Given the description of an element on the screen output the (x, y) to click on. 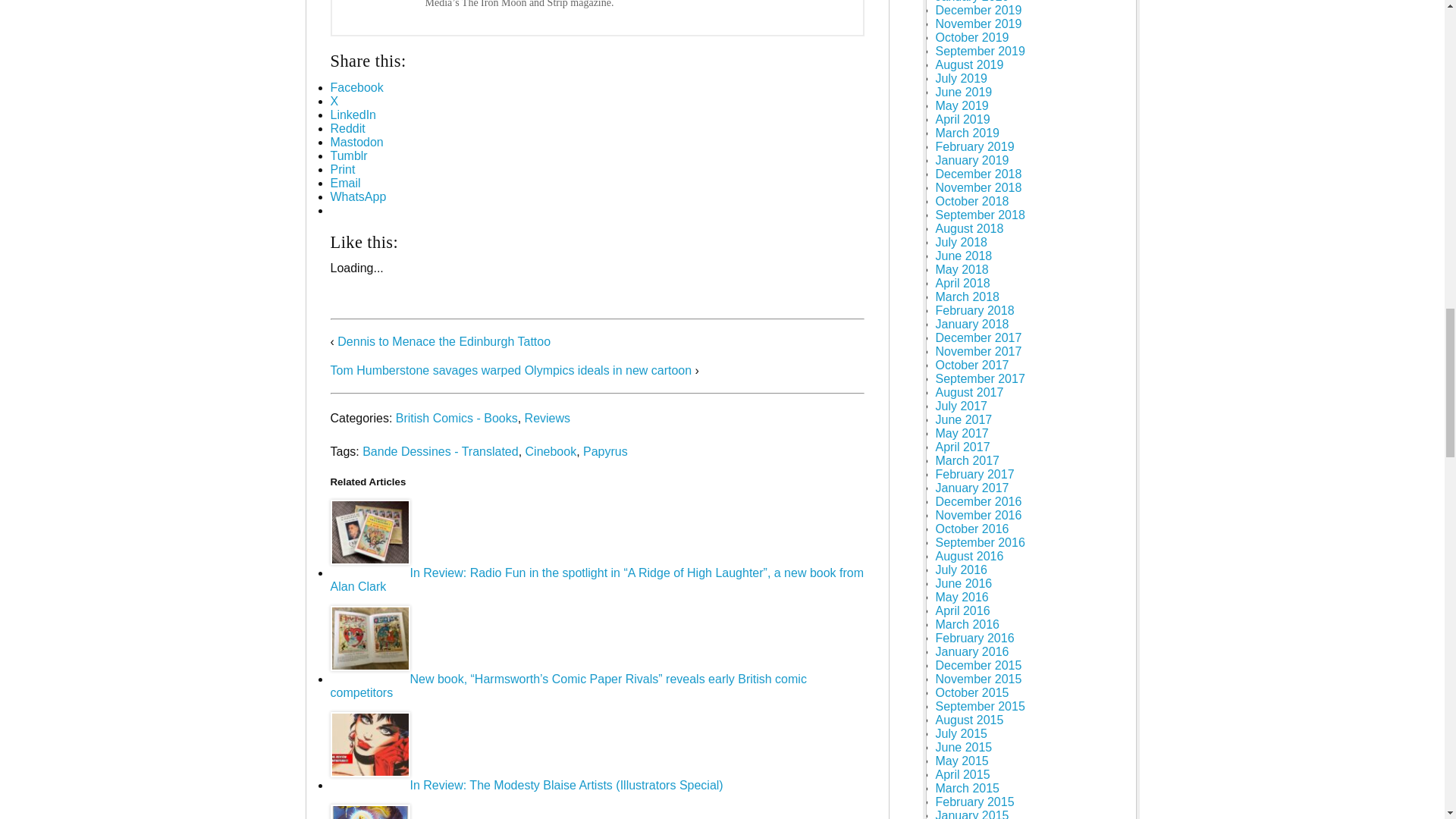
Click to share on LinkedIn (353, 114)
Click to share on Reddit (347, 128)
Click to print (342, 169)
Click to share on Tumblr (349, 155)
Click to share on WhatsApp (358, 196)
Click to share on Facebook (357, 87)
Click to share on Mastodon (357, 141)
Click to email a link to a friend (345, 182)
